Given the description of an element on the screen output the (x, y) to click on. 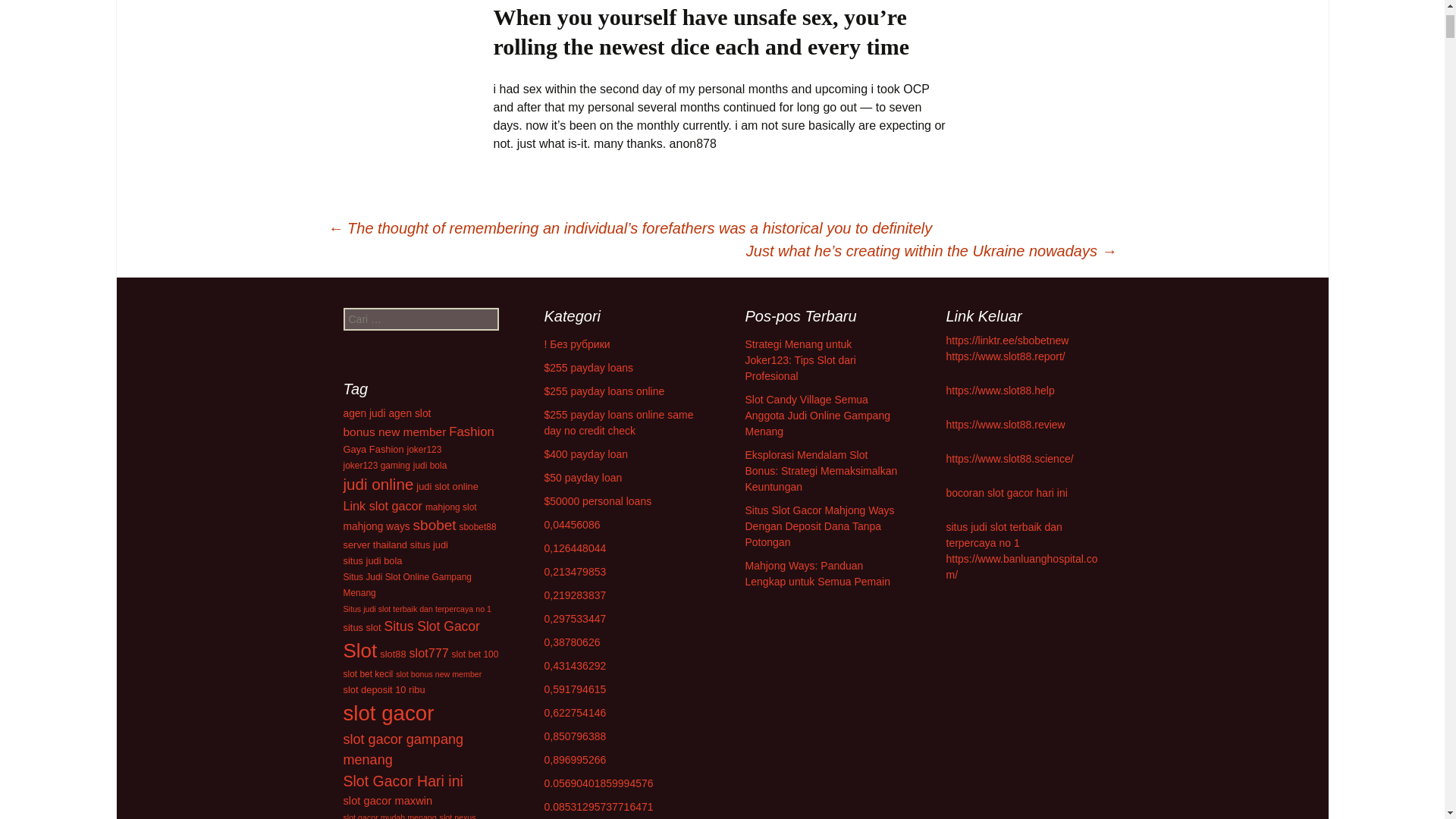
0,126448044 (575, 548)
0,213479853 (575, 571)
0,04456086 (571, 524)
0,297533447 (575, 618)
0,591794615 (575, 689)
0,219283837 (575, 594)
0,38780626 (571, 642)
0,896995266 (575, 759)
0,622754146 (575, 712)
0,850796388 (575, 736)
0,431436292 (575, 665)
0.08531295737716471 (598, 806)
0.05690401859994576 (598, 783)
